Given the description of an element on the screen output the (x, y) to click on. 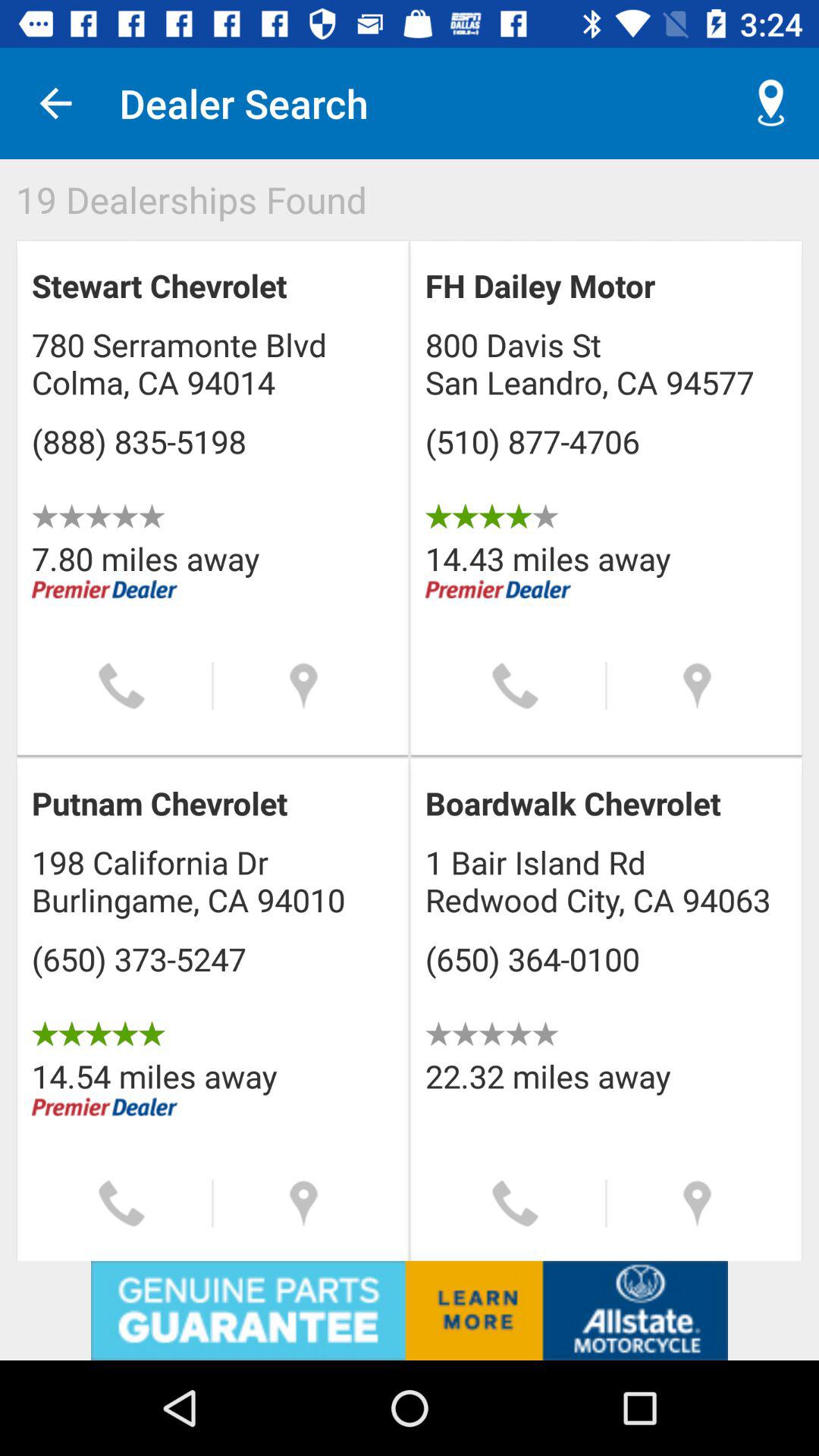
location (697, 1203)
